Given the description of an element on the screen output the (x, y) to click on. 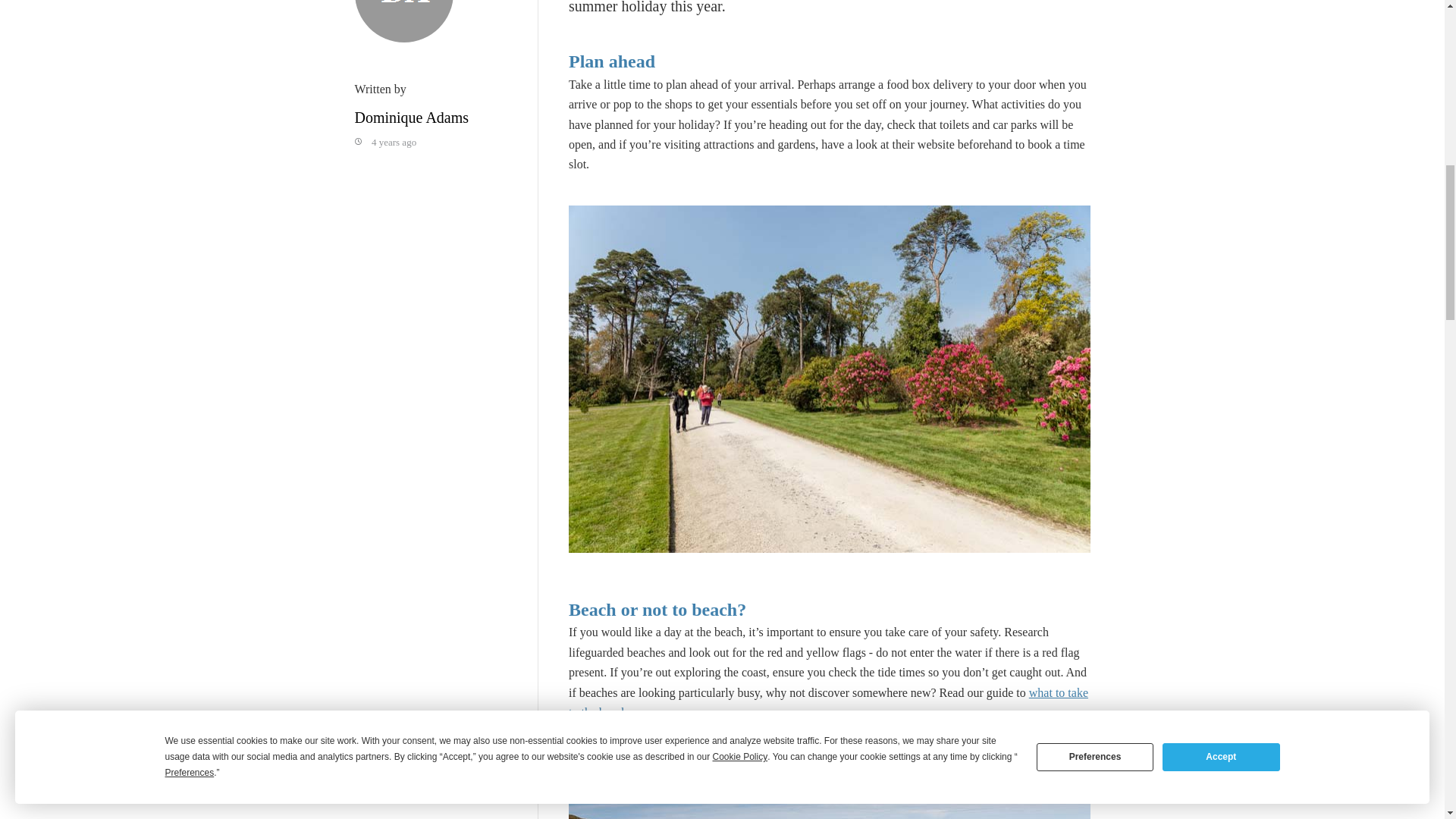
Trevaunance Cove, St Agnes (829, 785)
